Given the description of an element on the screen output the (x, y) to click on. 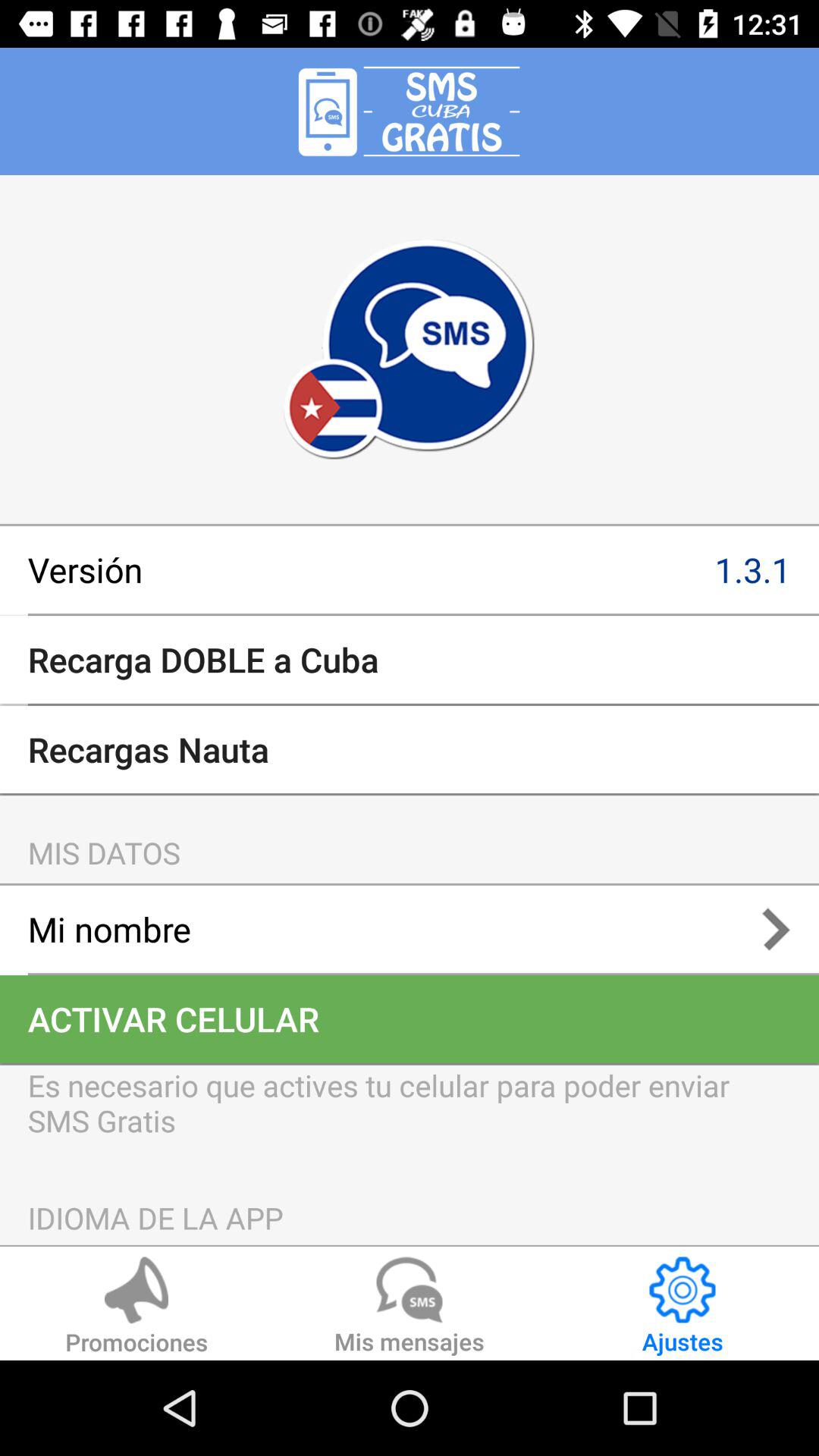
swipe until the recargas nauta item (409, 749)
